Given the description of an element on the screen output the (x, y) to click on. 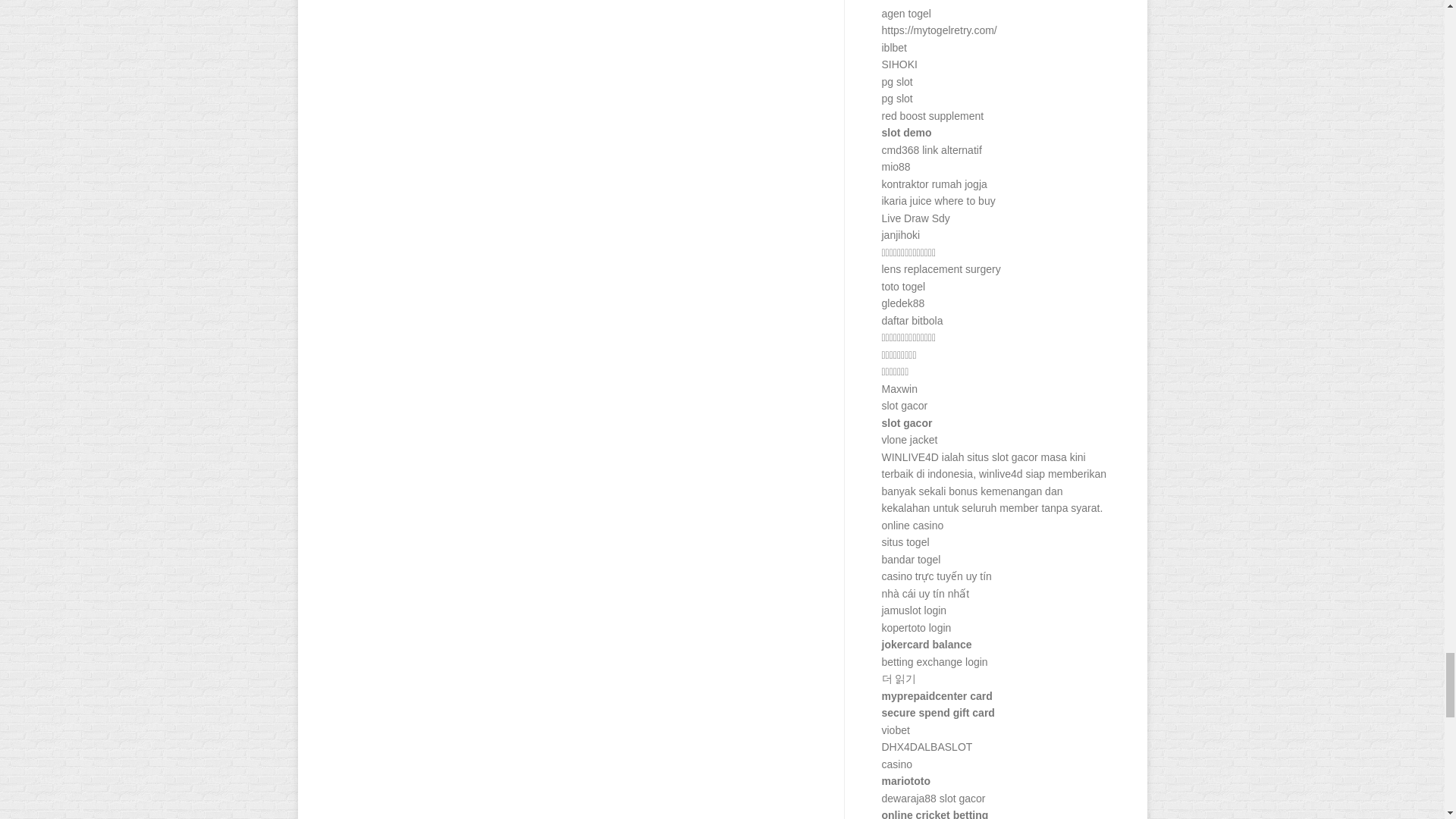
slot gacor (1014, 456)
